Given the description of an element on the screen output the (x, y) to click on. 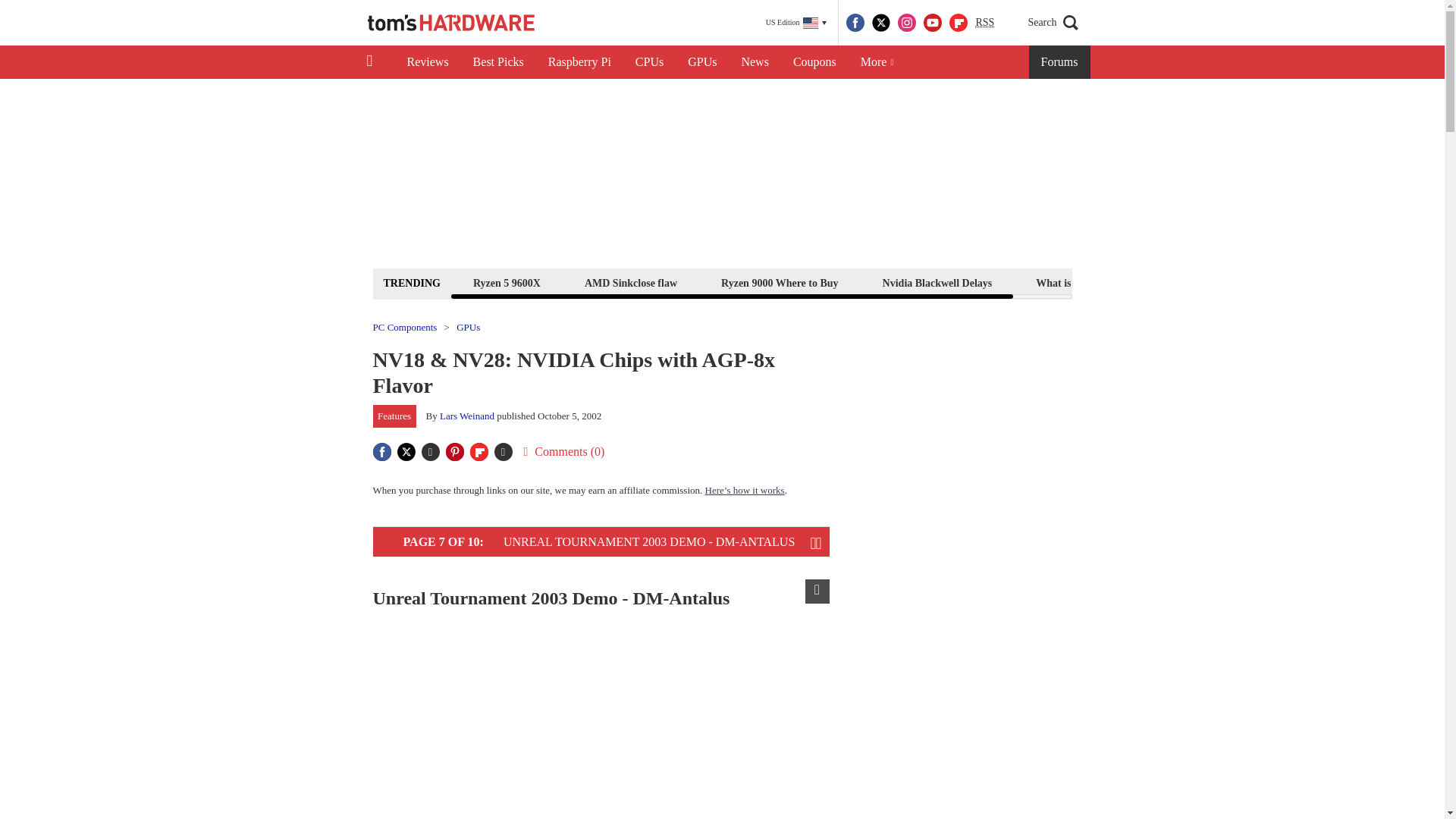
Best Picks (498, 61)
GPUs (702, 61)
Ryzen 5 9600X (506, 282)
News (754, 61)
Coupons (814, 61)
Raspberry Pi (579, 61)
Really Simple Syndication (984, 21)
Reviews (427, 61)
CPUs (649, 61)
US Edition (796, 22)
